Given the description of an element on the screen output the (x, y) to click on. 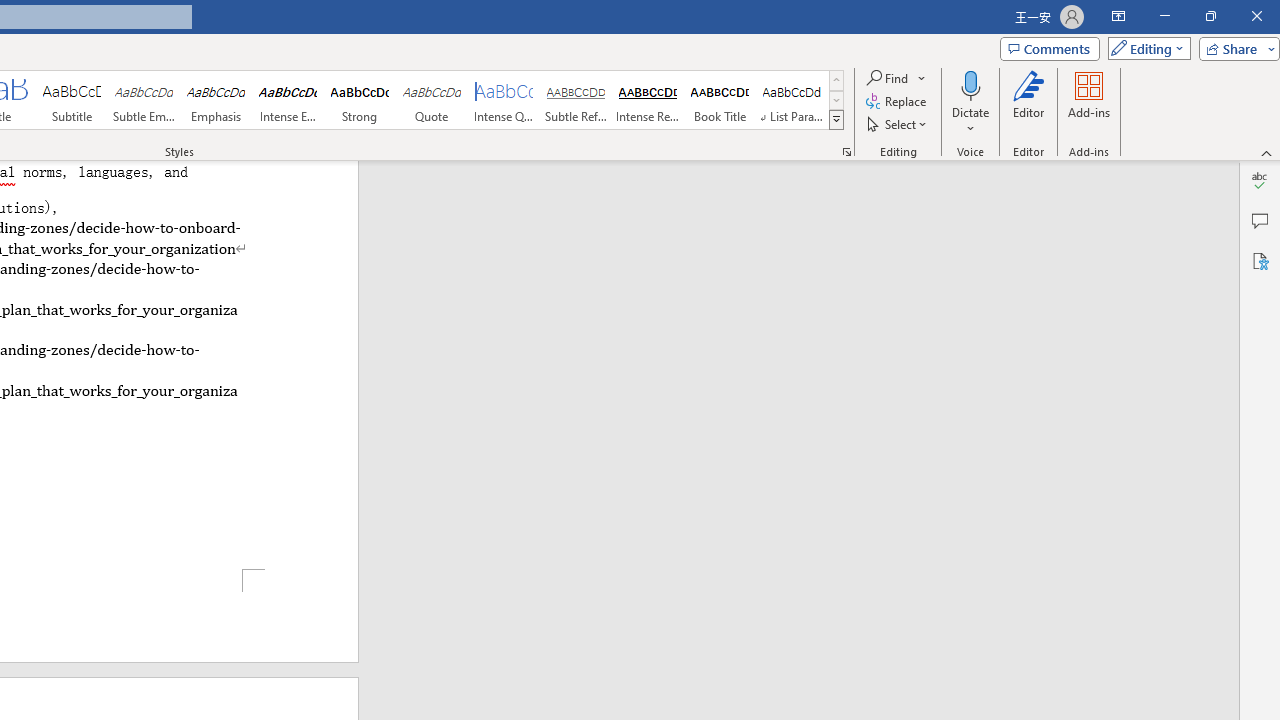
Accessibility (1260, 260)
